Given the description of an element on the screen output the (x, y) to click on. 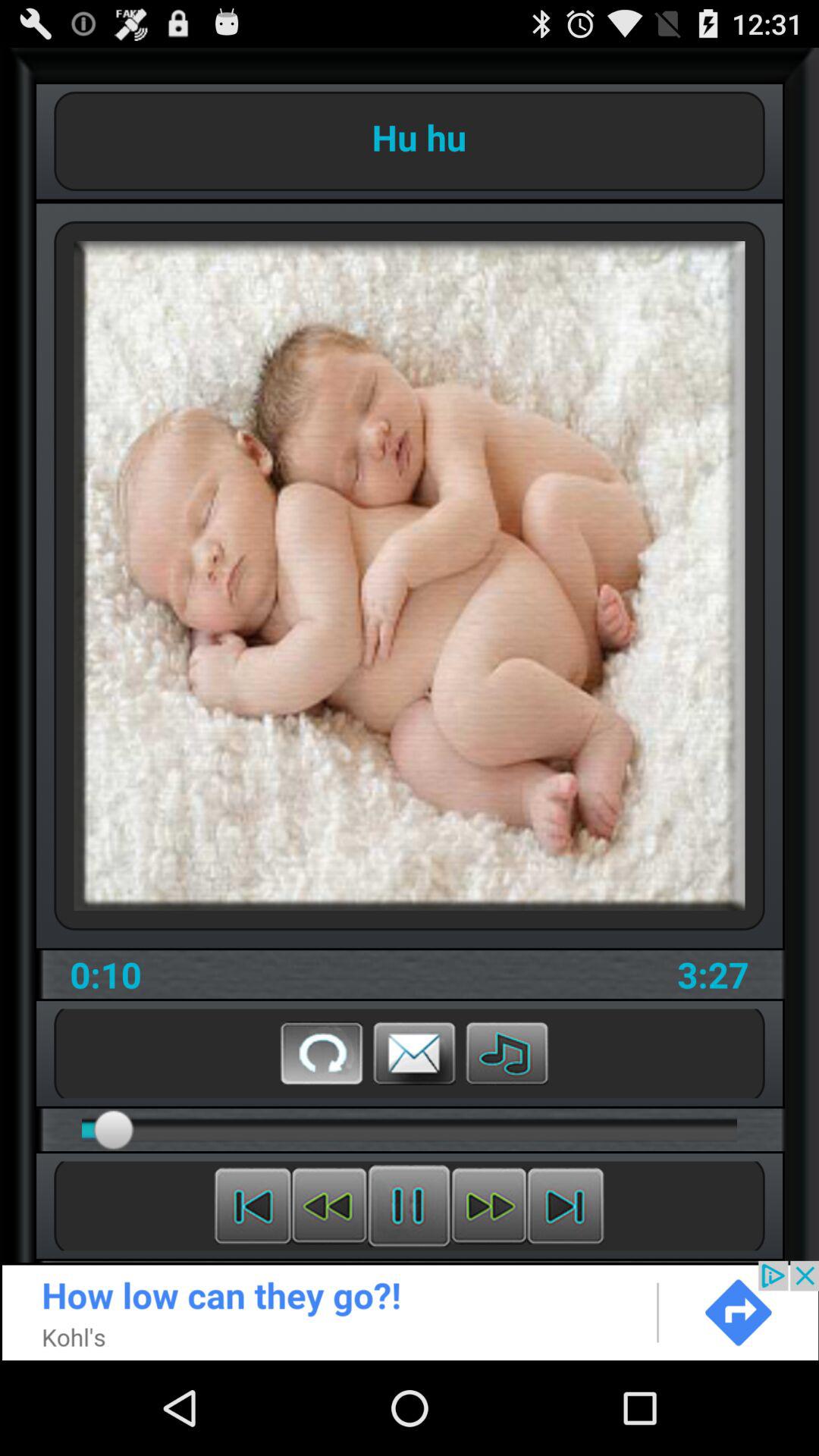
select the pause option (408, 1205)
